Given the description of an element on the screen output the (x, y) to click on. 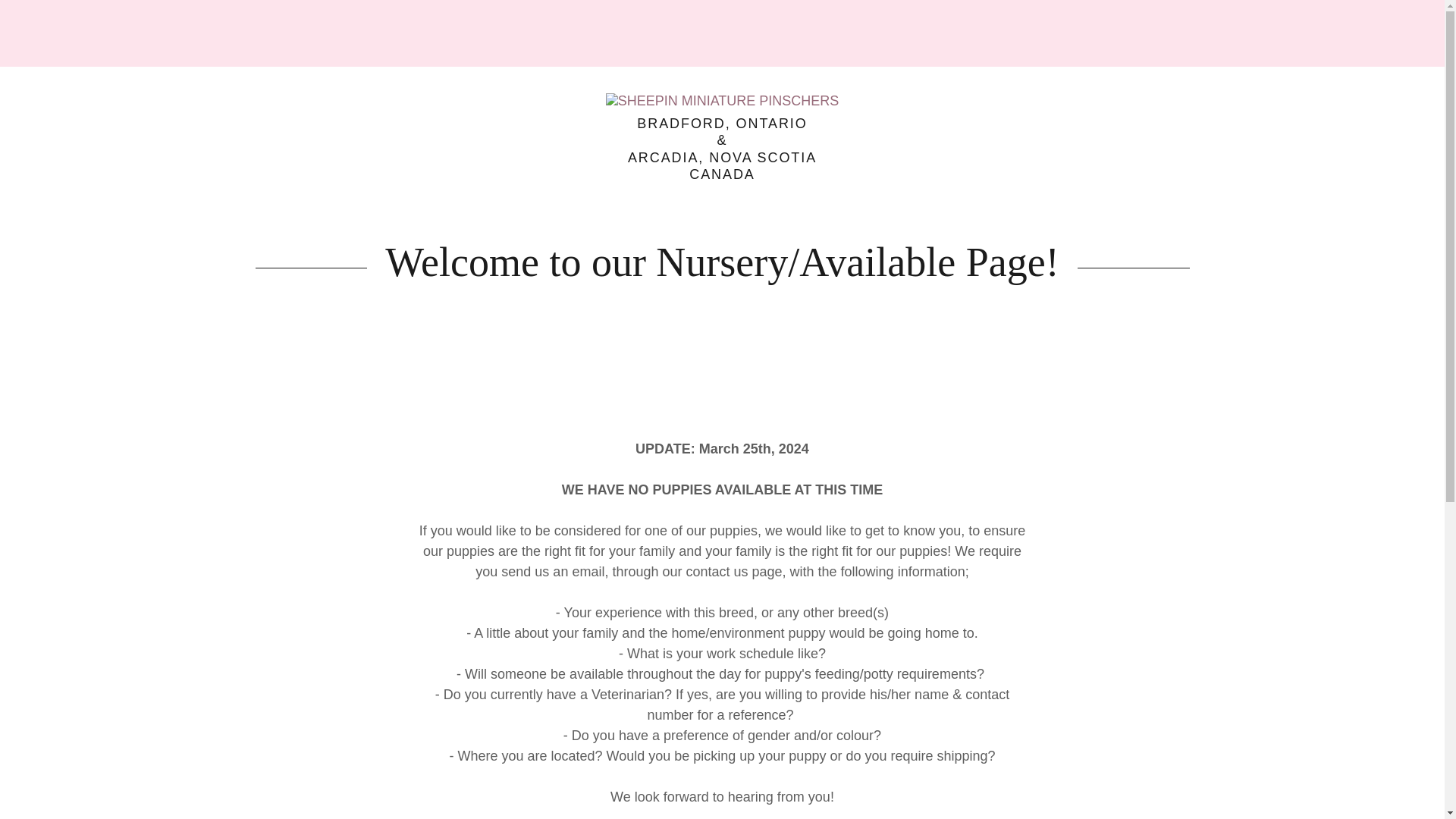
SHEEPIN MINIATURE PINSCHERS (722, 99)
